Given the description of an element on the screen output the (x, y) to click on. 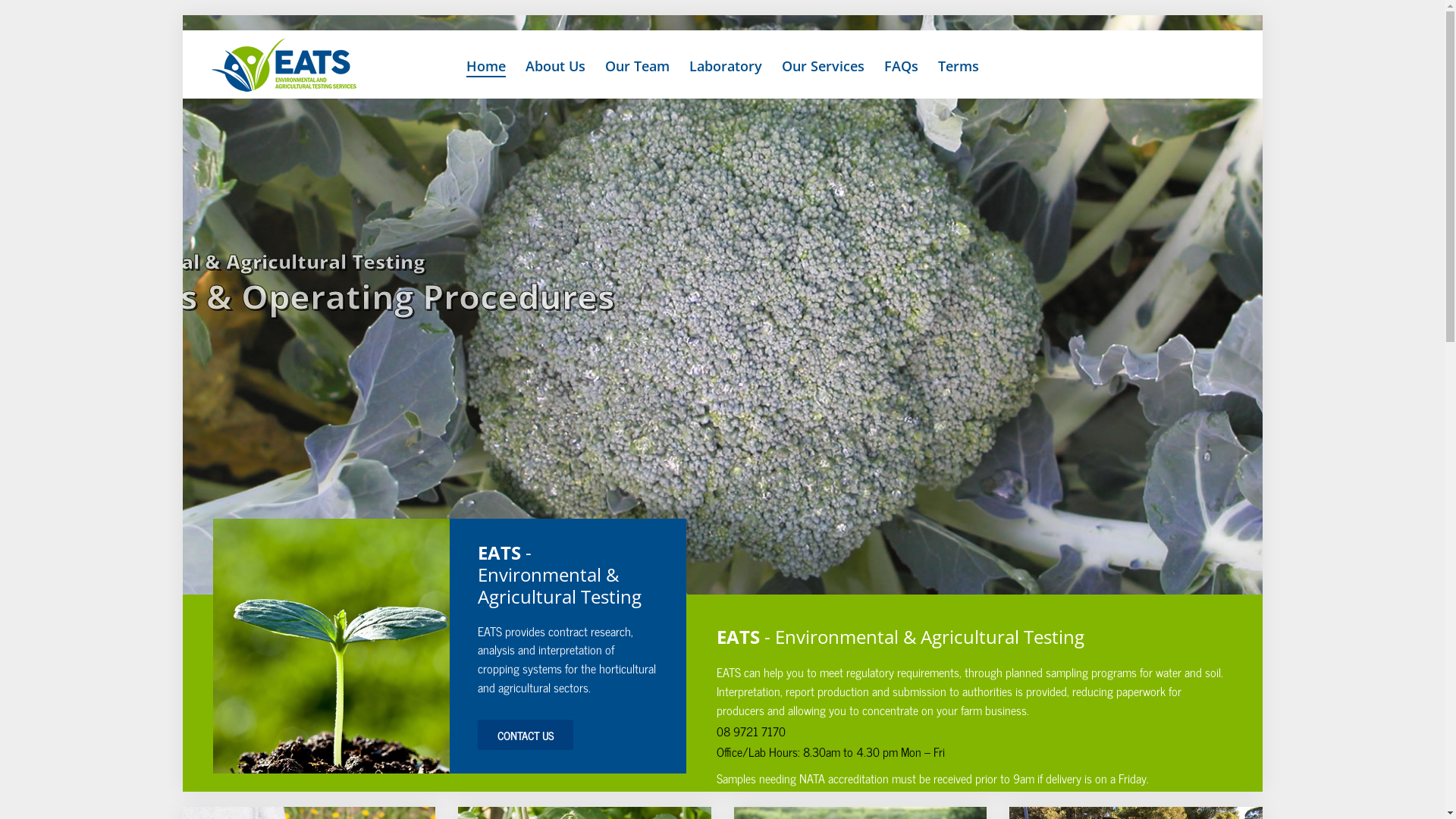
About Us Element type: text (554, 65)
FAQs Element type: text (901, 65)
Terms Element type: text (957, 65)
Home Element type: text (485, 66)
Our Team Element type: text (637, 65)
CONTACT US Element type: text (525, 734)
FAQs Element type: text (901, 65)
Terms Element type: text (957, 65)
Home Element type: text (485, 65)
Laboratory Element type: text (724, 65)
08 9721 7170 Element type: text (750, 730)
About Us Element type: text (554, 65)
Laboratory Element type: text (724, 65)
Our Team Element type: text (637, 65)
Our Services Element type: text (822, 65)
Our Services Element type: text (822, 65)
